Given the description of an element on the screen output the (x, y) to click on. 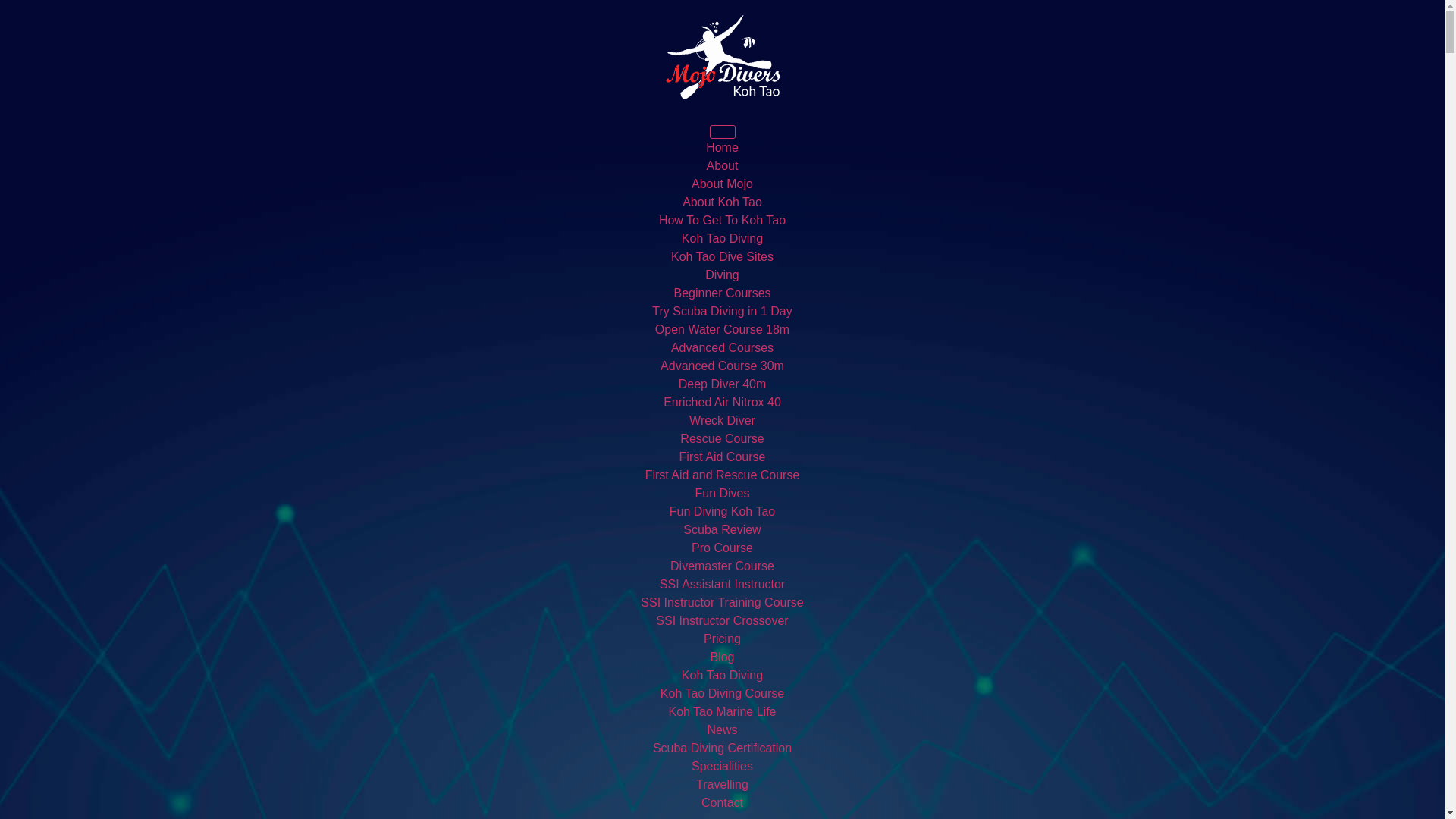
How To Get To Koh Tao (722, 219)
Koh Tao Diving Course (722, 693)
Home (722, 146)
Koh Tao Diving (721, 675)
Fun Dives (721, 492)
SSI Instructor Training Course (721, 602)
Advanced Courses (722, 347)
SSI Assistant Instructor (721, 584)
Koh Tao Marine Life (722, 711)
Rescue Course (720, 438)
Enriched Air Nitrox 40 (721, 401)
Pro Course (721, 547)
Advanced Course 30m (722, 365)
Wreck Diver (721, 420)
First Aid Course (722, 456)
